Given the description of an element on the screen output the (x, y) to click on. 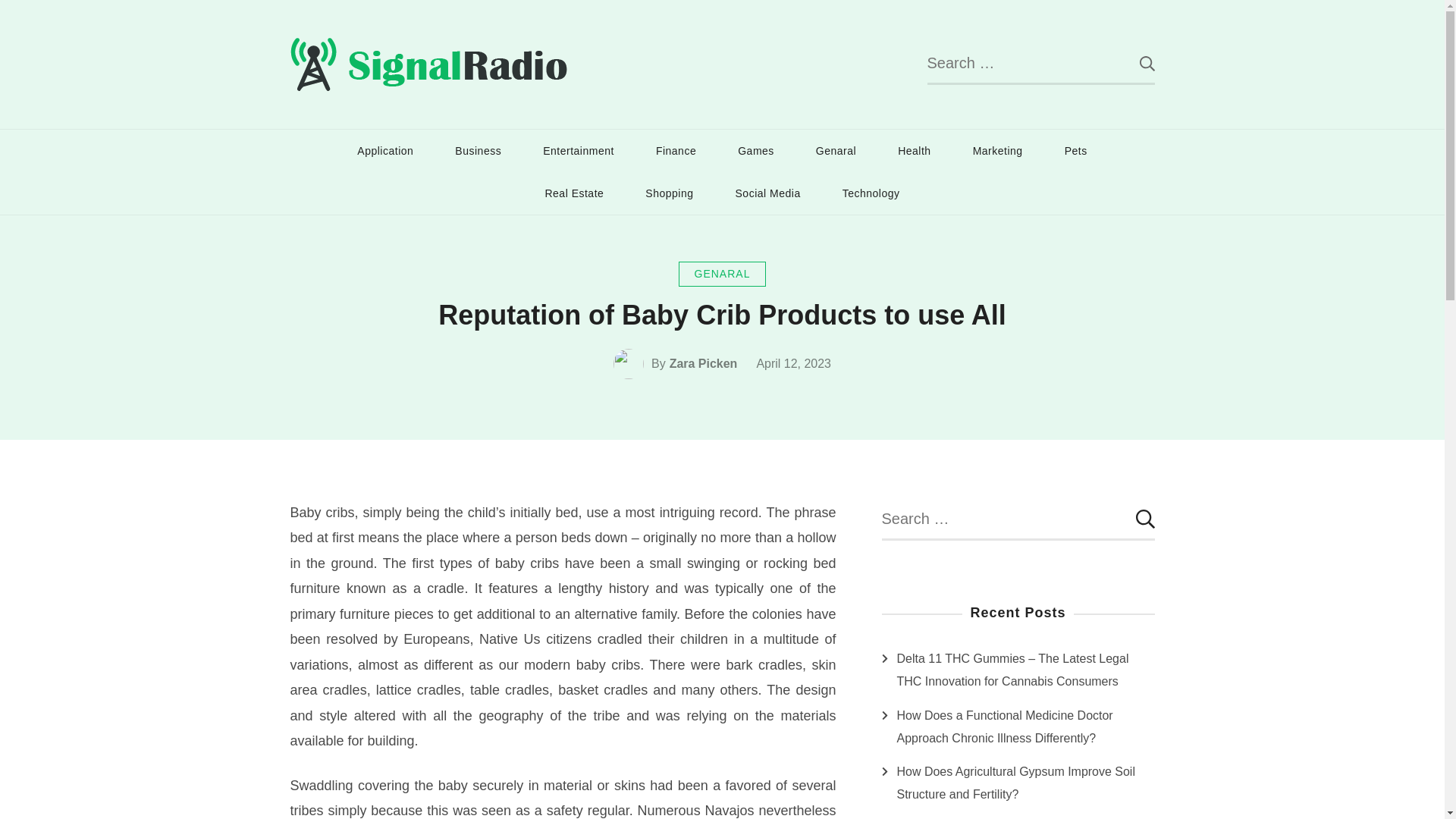
Search (1135, 519)
Search (1135, 519)
Games (756, 150)
Genaral (835, 150)
Application (384, 150)
GENARAL (722, 273)
Technology (871, 192)
Social Media (767, 192)
